Given the description of an element on the screen output the (x, y) to click on. 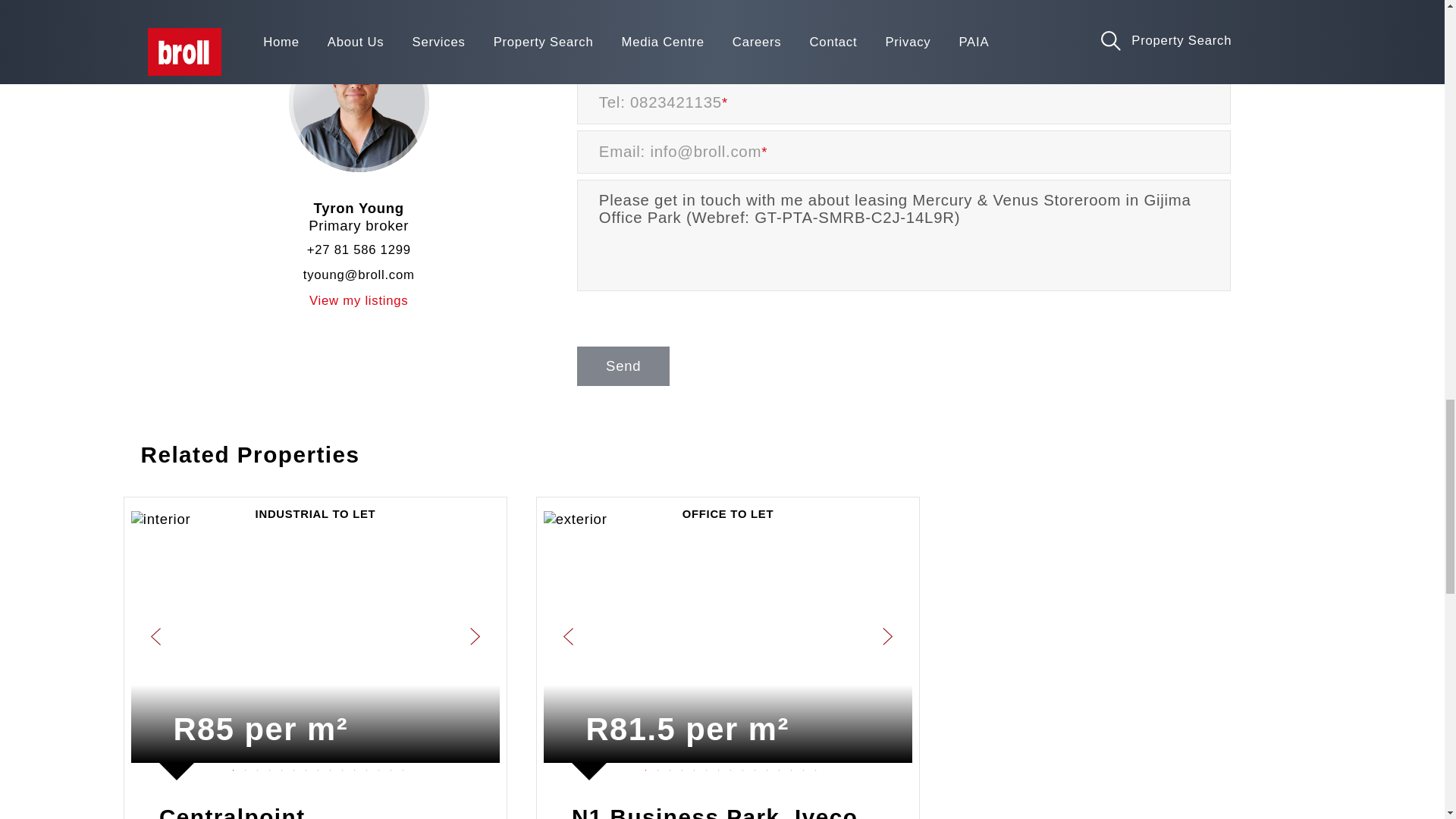
11 (351, 767)
8 (315, 767)
Previous (532, 636)
6 (290, 767)
5 (279, 767)
7 (302, 767)
13 (375, 767)
4 (266, 767)
View my listings (358, 312)
2 (242, 767)
